Given the description of an element on the screen output the (x, y) to click on. 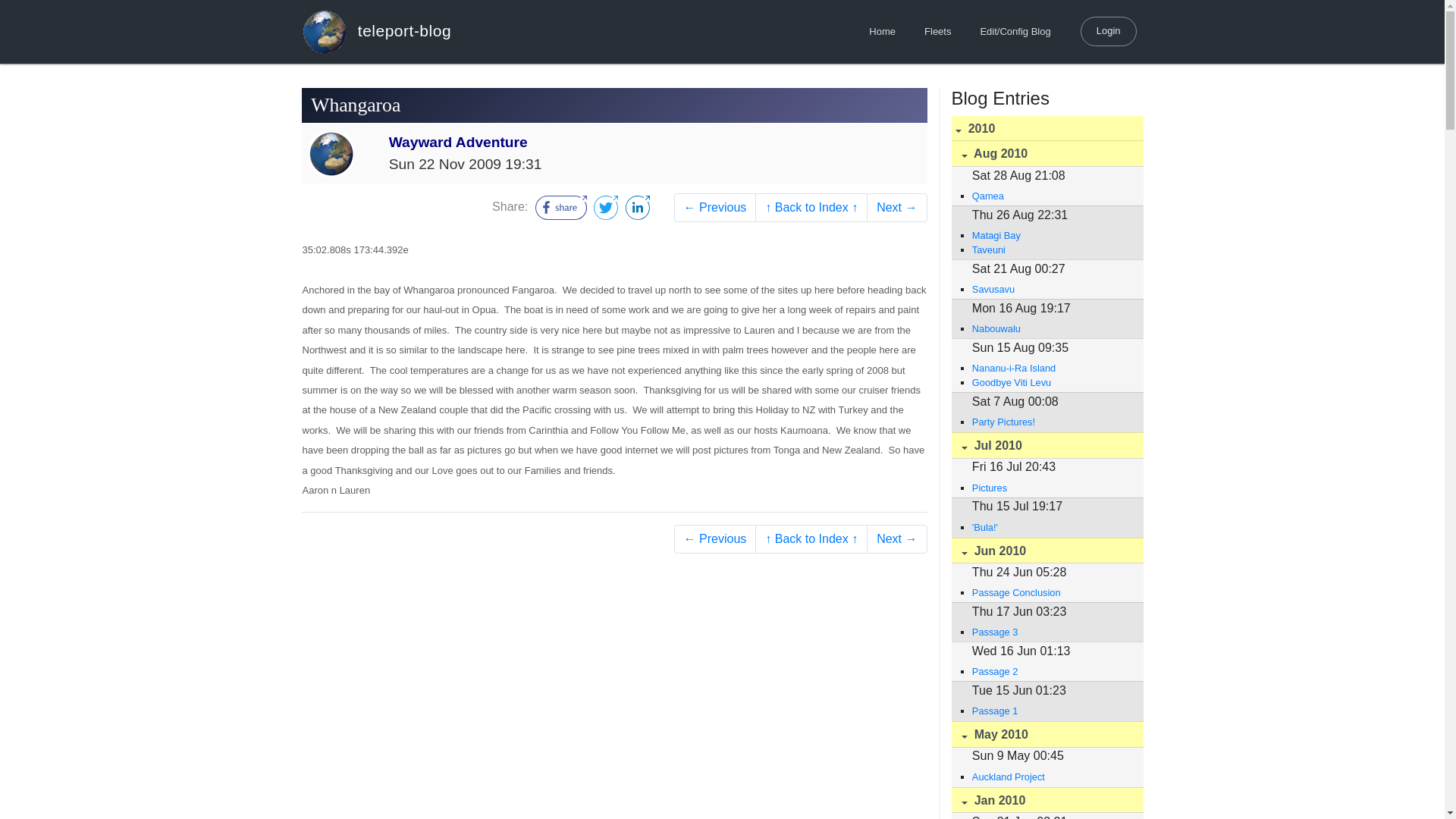
Passage 3 (1050, 631)
Passage 1 (1050, 710)
Nabouwalu (1050, 328)
teleport-blog (376, 31)
Pictures (1050, 487)
Jan 2010 (1046, 800)
Passage 2 (1050, 671)
Party Pictures! (1050, 421)
Auckland Project (1050, 776)
Jul 2010 (1046, 445)
Passage Conclusion (1050, 592)
Nananu-i-Ra Island (1050, 368)
Qamea (1050, 196)
Aug 2010 (1046, 153)
Taveuni (1050, 249)
